Given the description of an element on the screen output the (x, y) to click on. 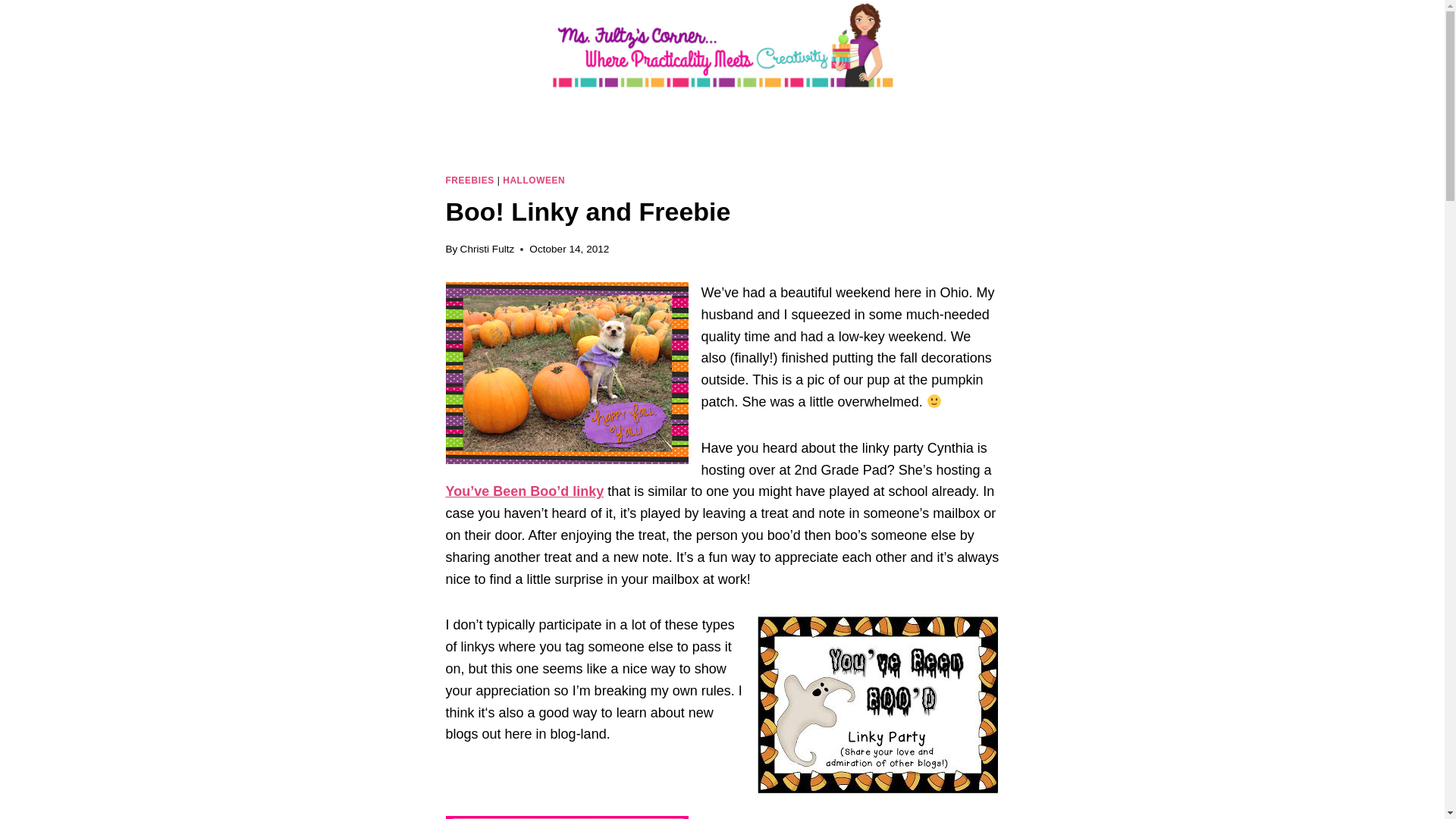
Christi Fultz (487, 248)
linky (588, 491)
FREEBIES (470, 180)
HALLOWEEN (533, 180)
